Given the description of an element on the screen output the (x, y) to click on. 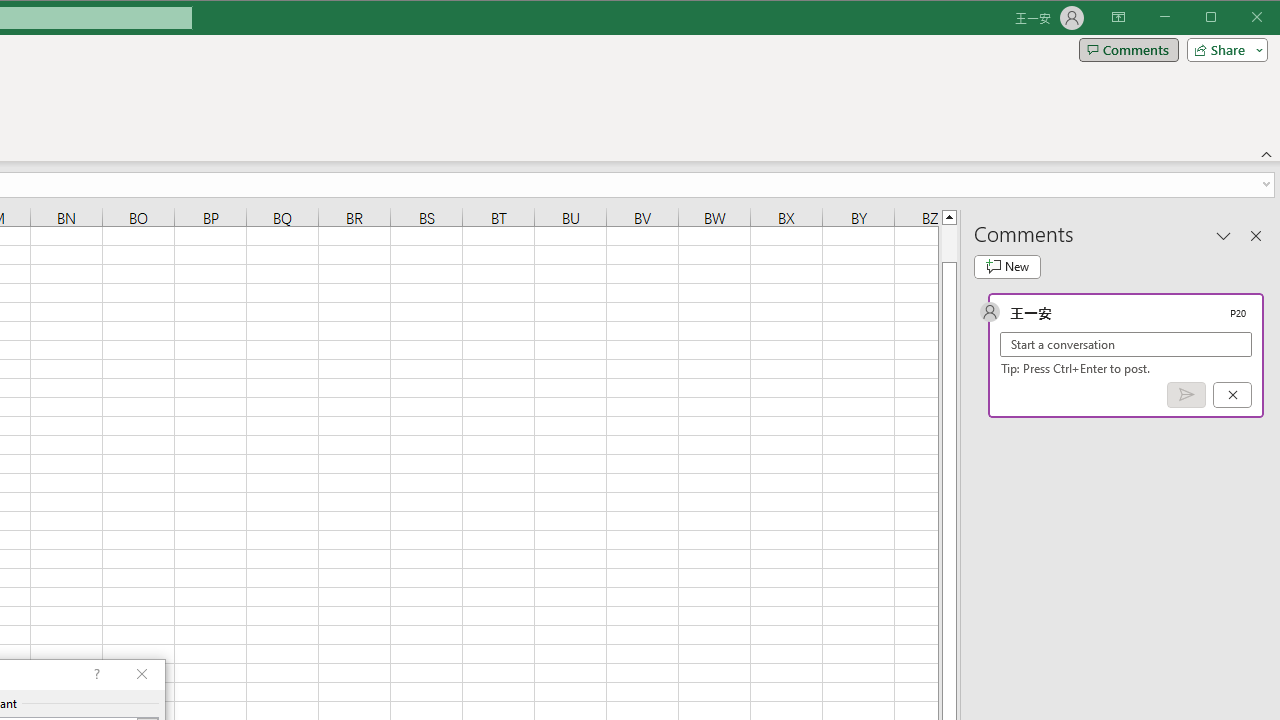
Start a conversation (1126, 344)
Post comment (Ctrl + Enter) (1186, 395)
Maximize (1239, 18)
New comment (1007, 266)
Page up (948, 243)
